Given the description of an element on the screen output the (x, y) to click on. 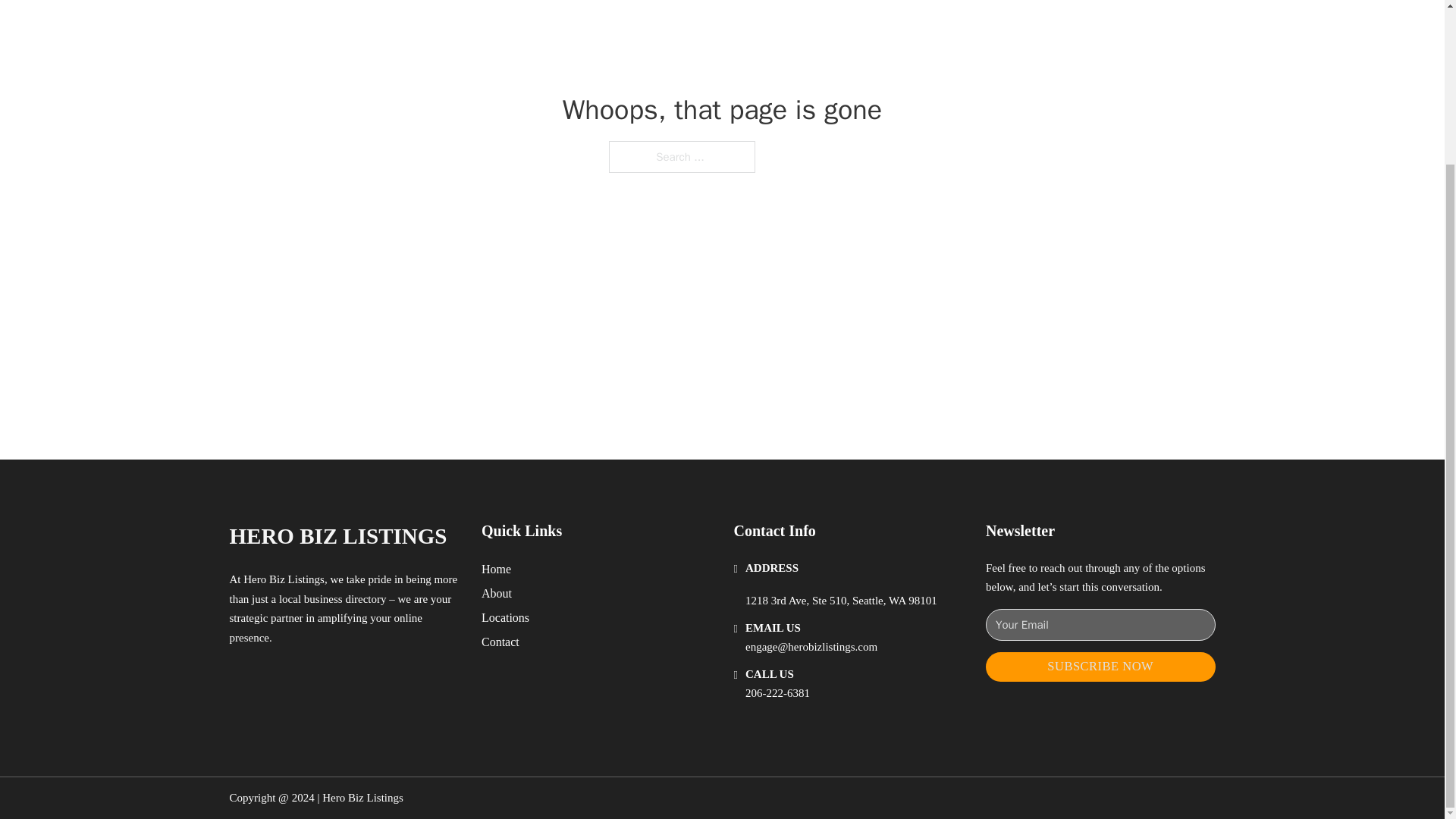
Home (496, 568)
Contact (500, 641)
Locations (505, 617)
About (496, 593)
HERO BIZ LISTINGS (337, 536)
SUBSCRIBE NOW (1100, 666)
206-222-6381 (777, 693)
